Given the description of an element on the screen output the (x, y) to click on. 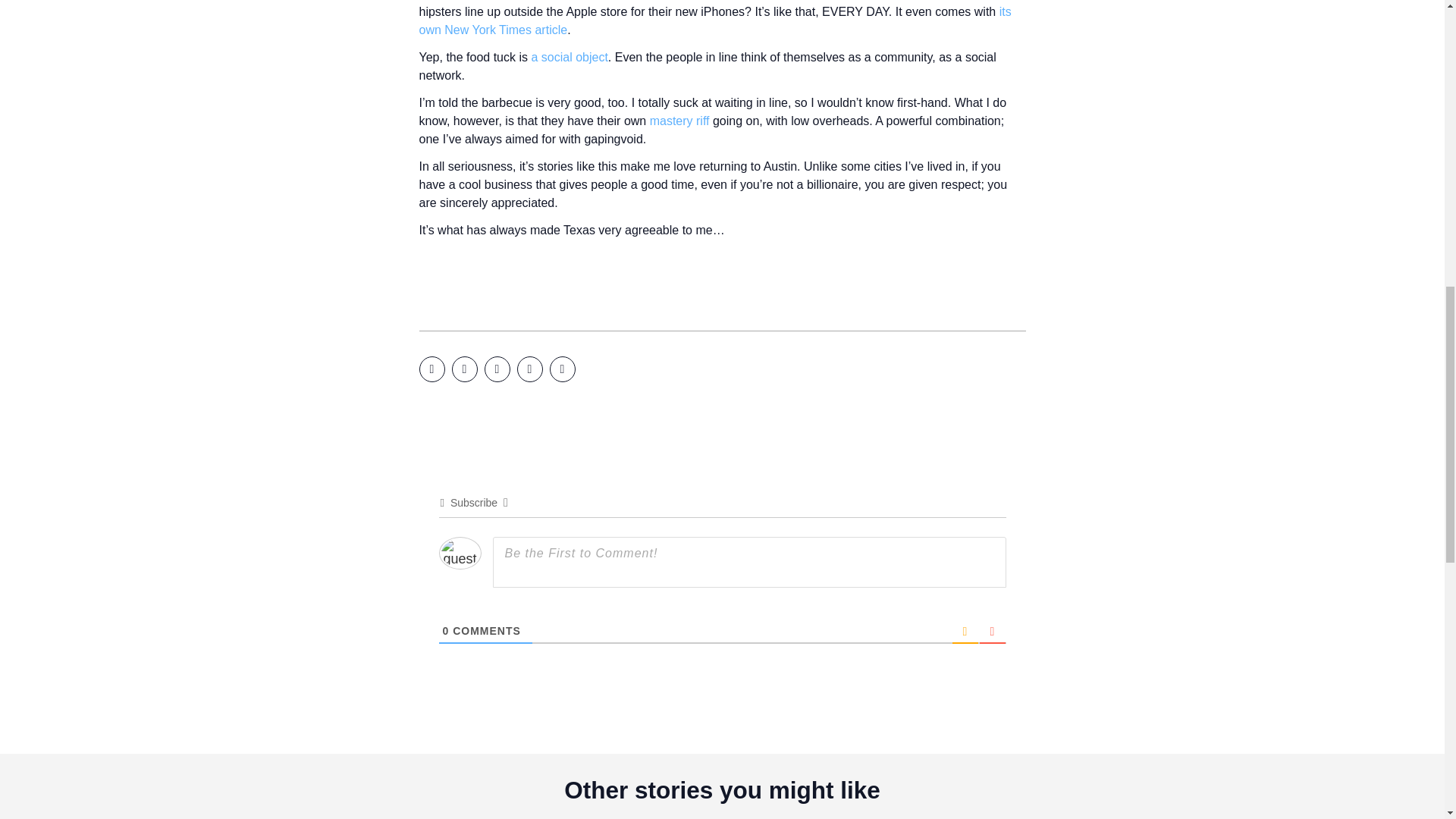
Email this  (561, 369)
Add this to LinkedIn (496, 369)
a social object (569, 56)
mastery riff (679, 120)
Tweet this ! (464, 369)
Share this on Facebook (431, 369)
Submit this to Pinterest (529, 369)
its own New York Times article (714, 20)
